Given the description of an element on the screen output the (x, y) to click on. 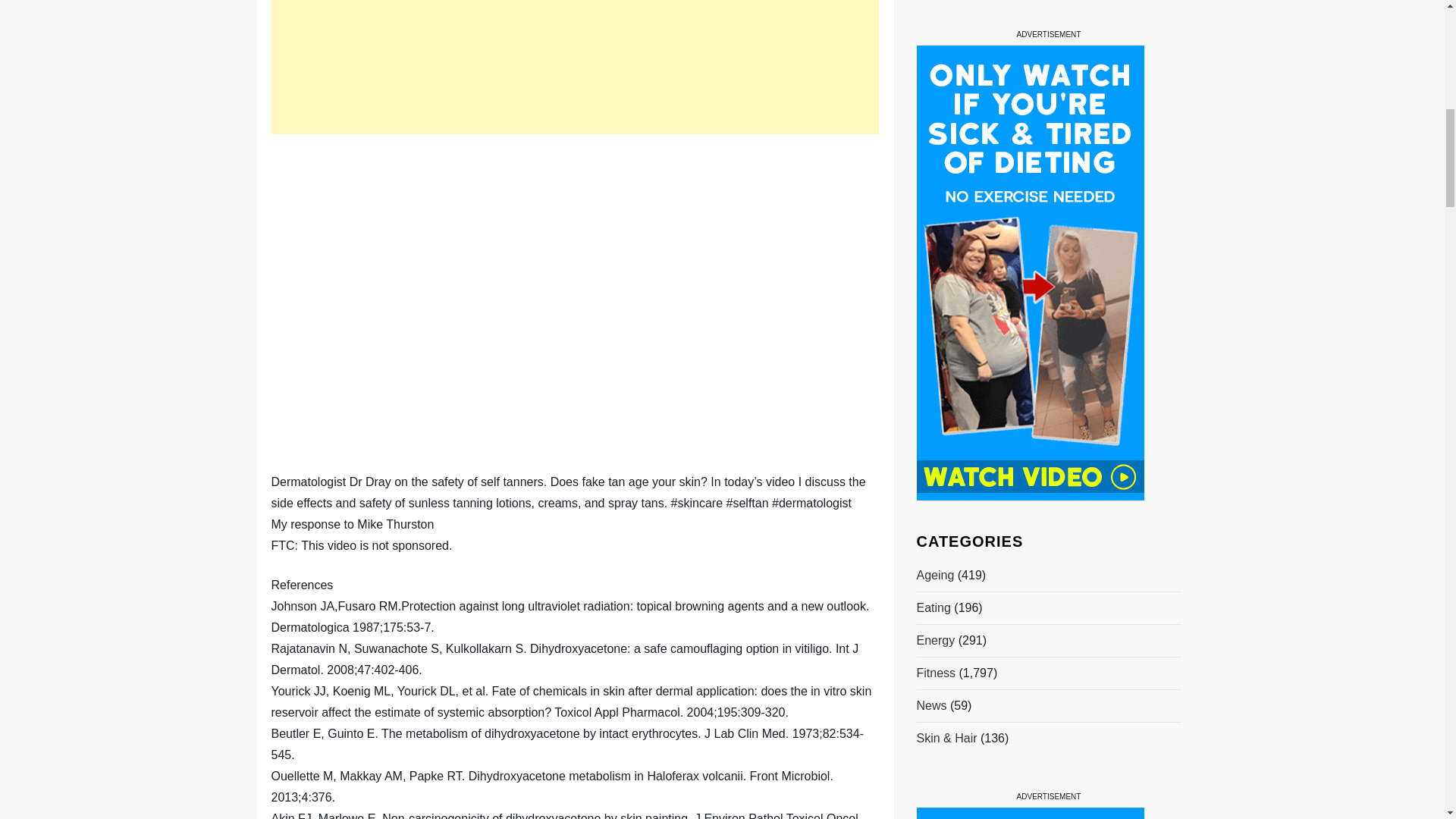
Fitness (935, 13)
News (930, 46)
Advertisement (574, 67)
